Given the description of an element on the screen output the (x, y) to click on. 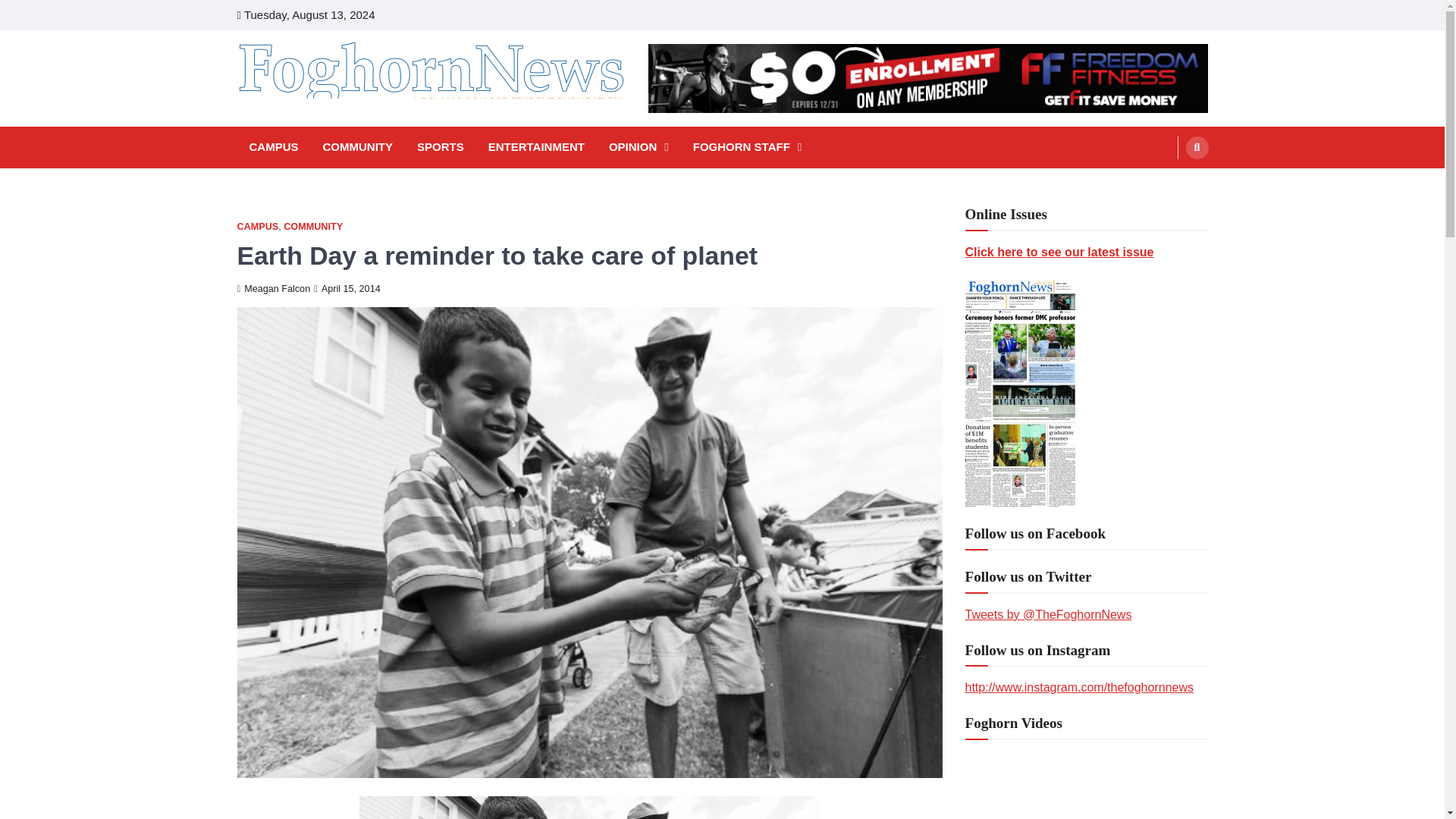
April 15, 2014 (347, 288)
SPORTS (440, 147)
COMMUNITY (312, 226)
OPINION (638, 147)
Search (1168, 183)
Click here to see our latest issue (1058, 251)
Meagan Falcon (272, 288)
CAMPUS (273, 147)
CAMPUS (256, 226)
COMMUNITY (357, 147)
